Given the description of an element on the screen output the (x, y) to click on. 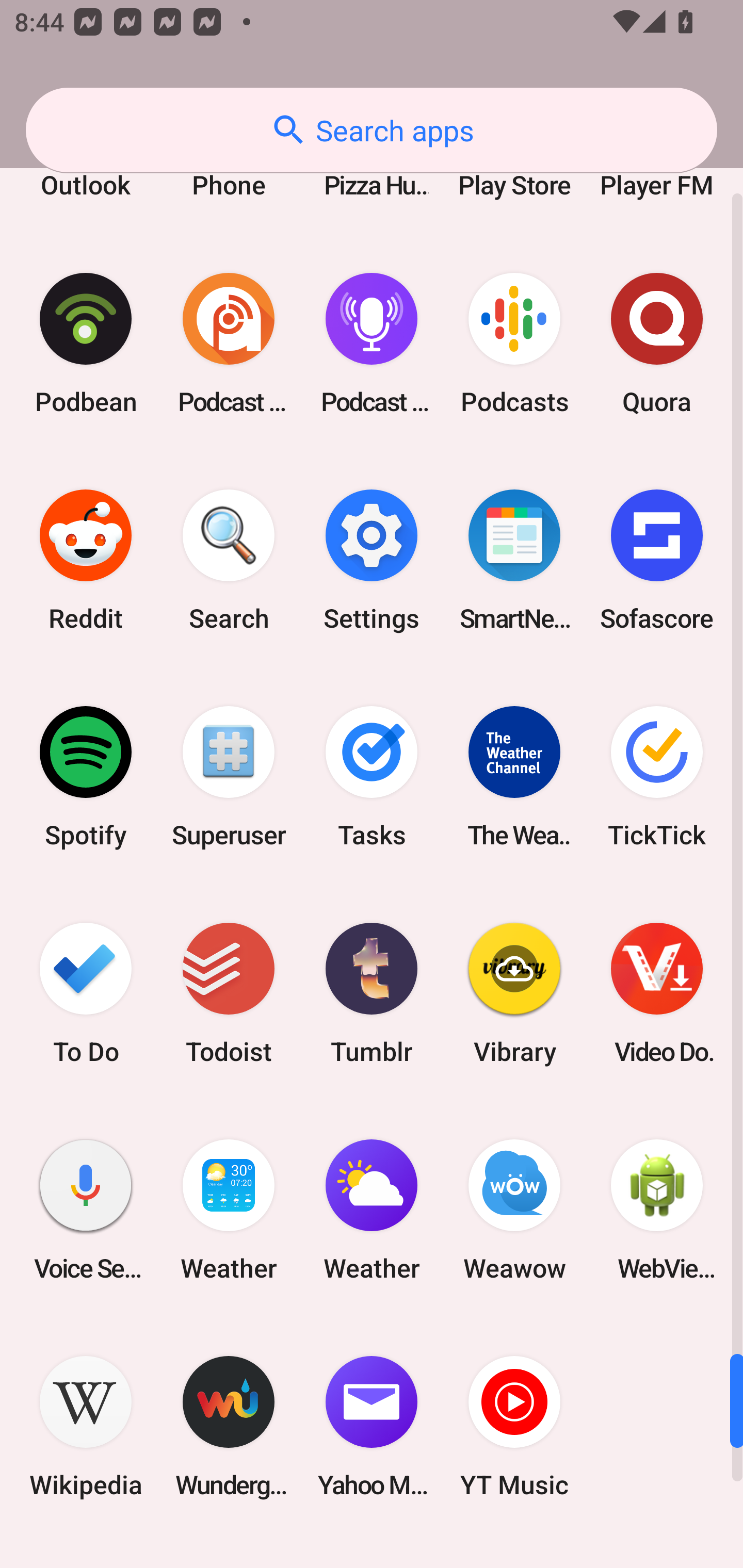
  Search apps (371, 130)
Podbean (85, 343)
Podcast Addict (228, 343)
Podcast Player (371, 343)
Podcasts (514, 343)
Quora (656, 343)
Reddit (85, 559)
Search (228, 559)
Settings (371, 559)
SmartNews (514, 559)
Sofascore (656, 559)
Spotify (85, 775)
Superuser (228, 775)
Tasks (371, 775)
The Weather Channel (514, 775)
TickTick (656, 775)
To Do (85, 993)
Todoist (228, 993)
Tumblr (371, 993)
Vibrary (514, 993)
Video Downloader & Ace Player (656, 993)
Voice Search (85, 1210)
Weather (228, 1210)
Weather (371, 1210)
Weawow (514, 1210)
WebView Browser Tester (656, 1210)
Wikipedia (85, 1426)
Wunderground (228, 1426)
Yahoo Mail (371, 1426)
YT Music (514, 1426)
